Given the description of an element on the screen output the (x, y) to click on. 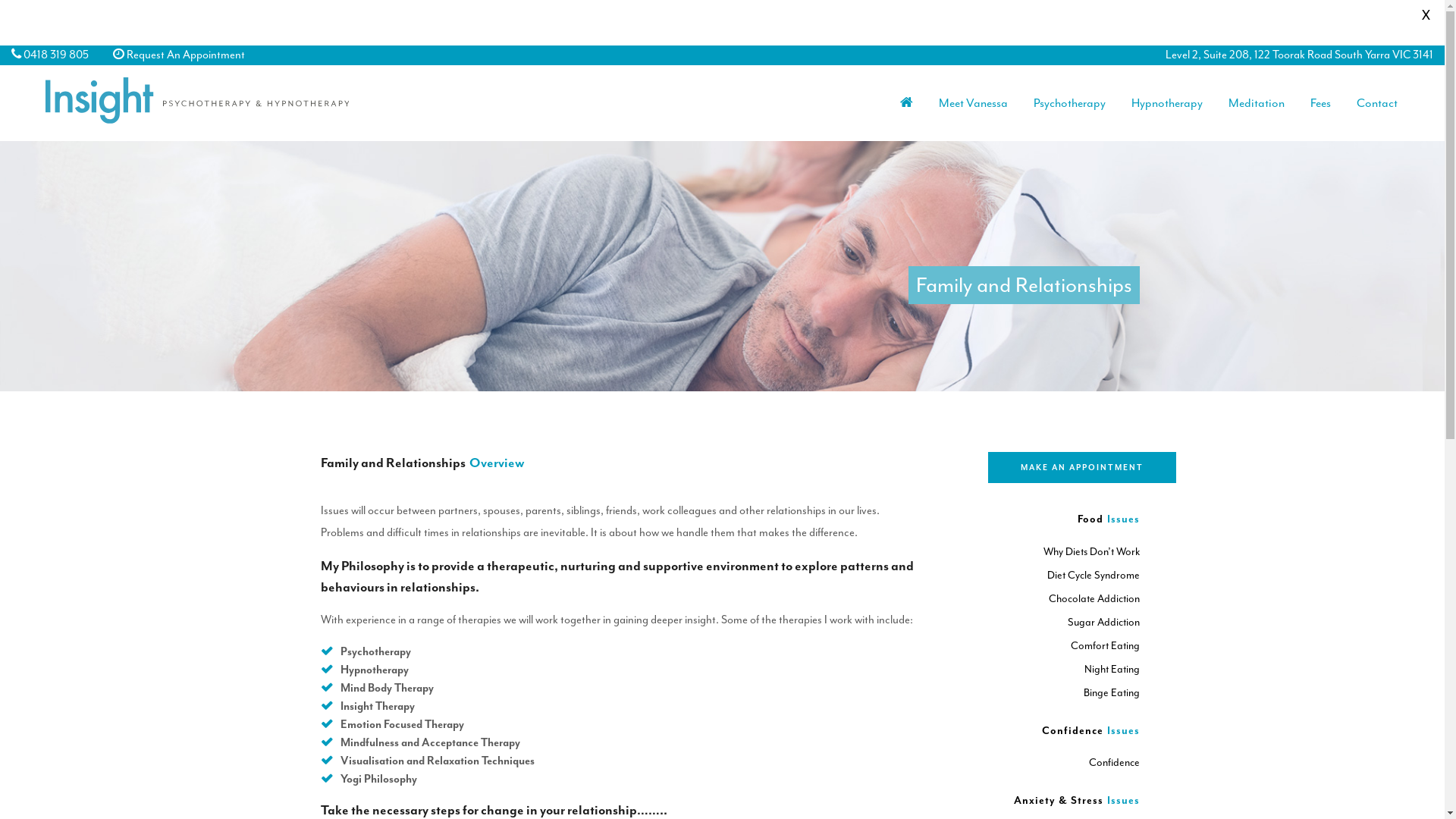
0418 319 805 Element type: text (55, 54)
MAKE AN APPOINTMENT Element type: text (1081, 467)
Night Eating Element type: text (1111, 668)
Hypnotherapy Element type: text (1166, 103)
Meditation Element type: text (1256, 103)
Chocolate Addiction Element type: text (1093, 598)
Binge Eating Element type: text (1110, 692)
Sugar Addiction Element type: text (1103, 621)
Contact Element type: text (1376, 103)
Fees Element type: text (1320, 103)
Request An Appointment Element type: text (185, 54)
Confidence Element type: text (1113, 762)
X Element type: text (1425, 14)
Psychotherapy Element type: text (1069, 103)
Diet Cycle Syndrome Element type: text (1092, 574)
Meet Vanessa Element type: text (972, 103)
Comfort Eating Element type: text (1104, 645)
